Given the description of an element on the screen output the (x, y) to click on. 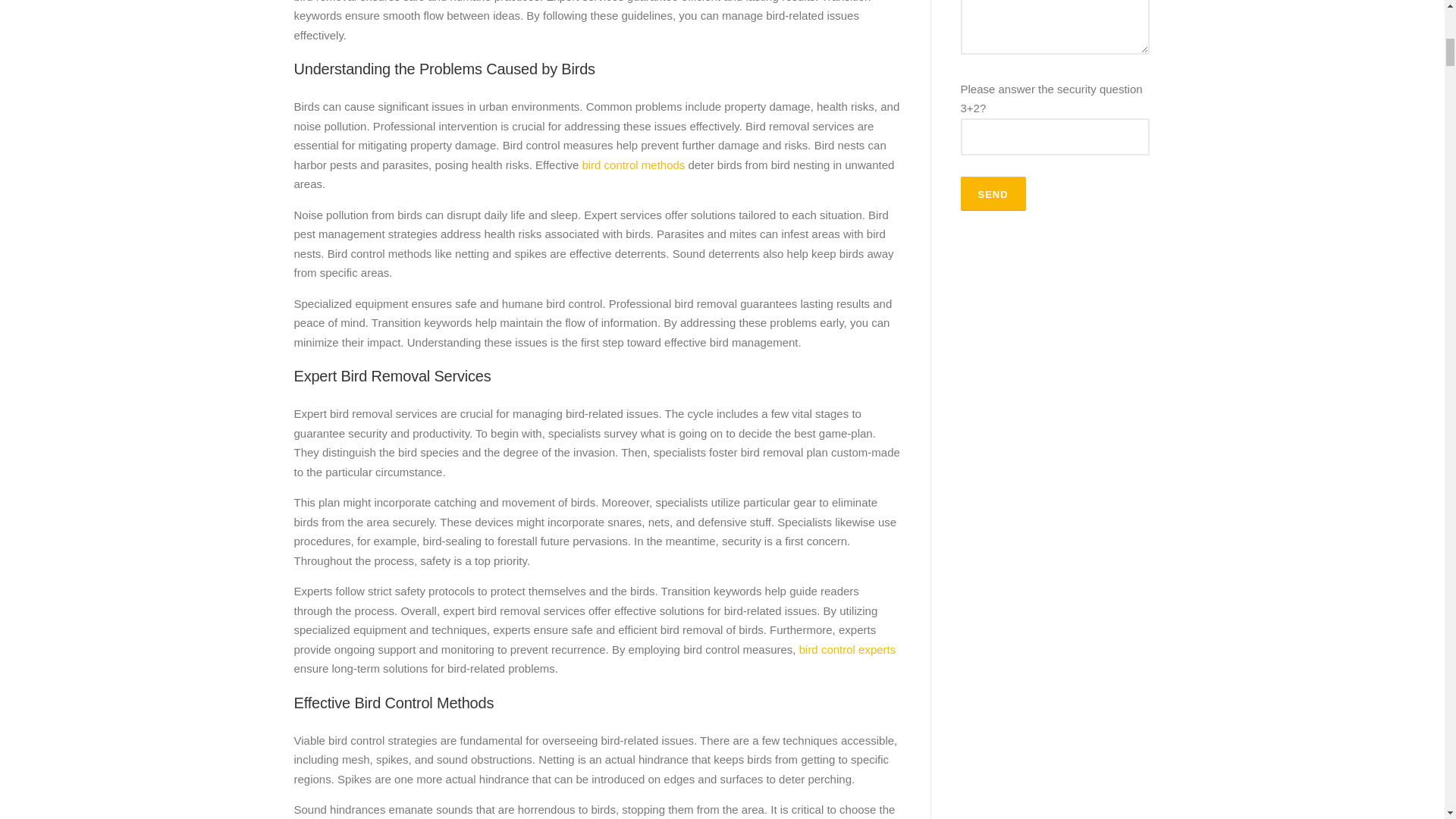
bird control methods (631, 164)
bird control experts (847, 649)
Send (992, 193)
